Given the description of an element on the screen output the (x, y) to click on. 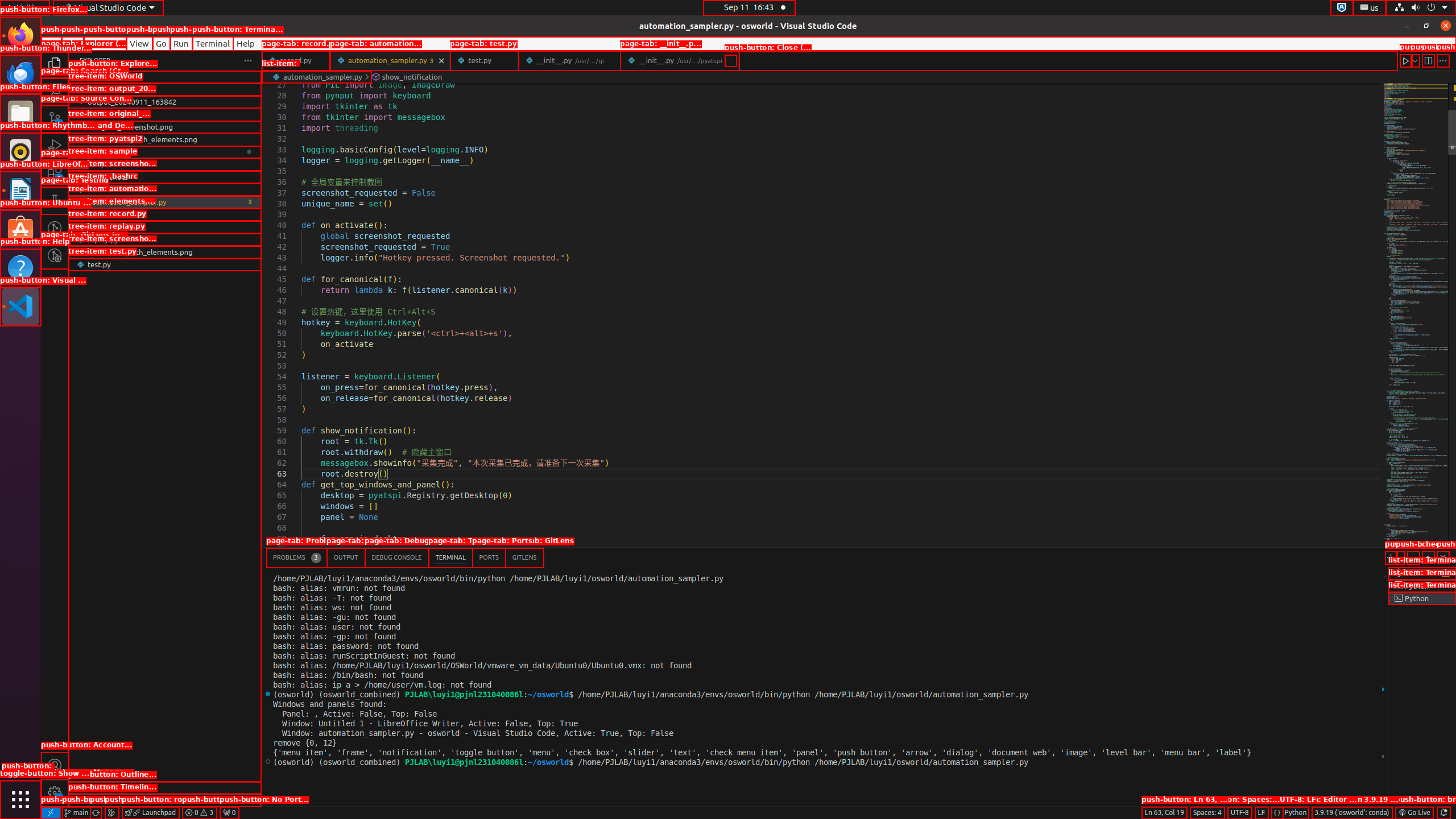
Explorer (Ctrl+Shift+E) Element type: page-tab (54, 63)
LF Element type: push-button (1261, 812)
Manage - New Code update available. Element type: push-button (54, 792)
screenshot_with_elements.png Element type: tree-item (164, 251)
